Given the description of an element on the screen output the (x, y) to click on. 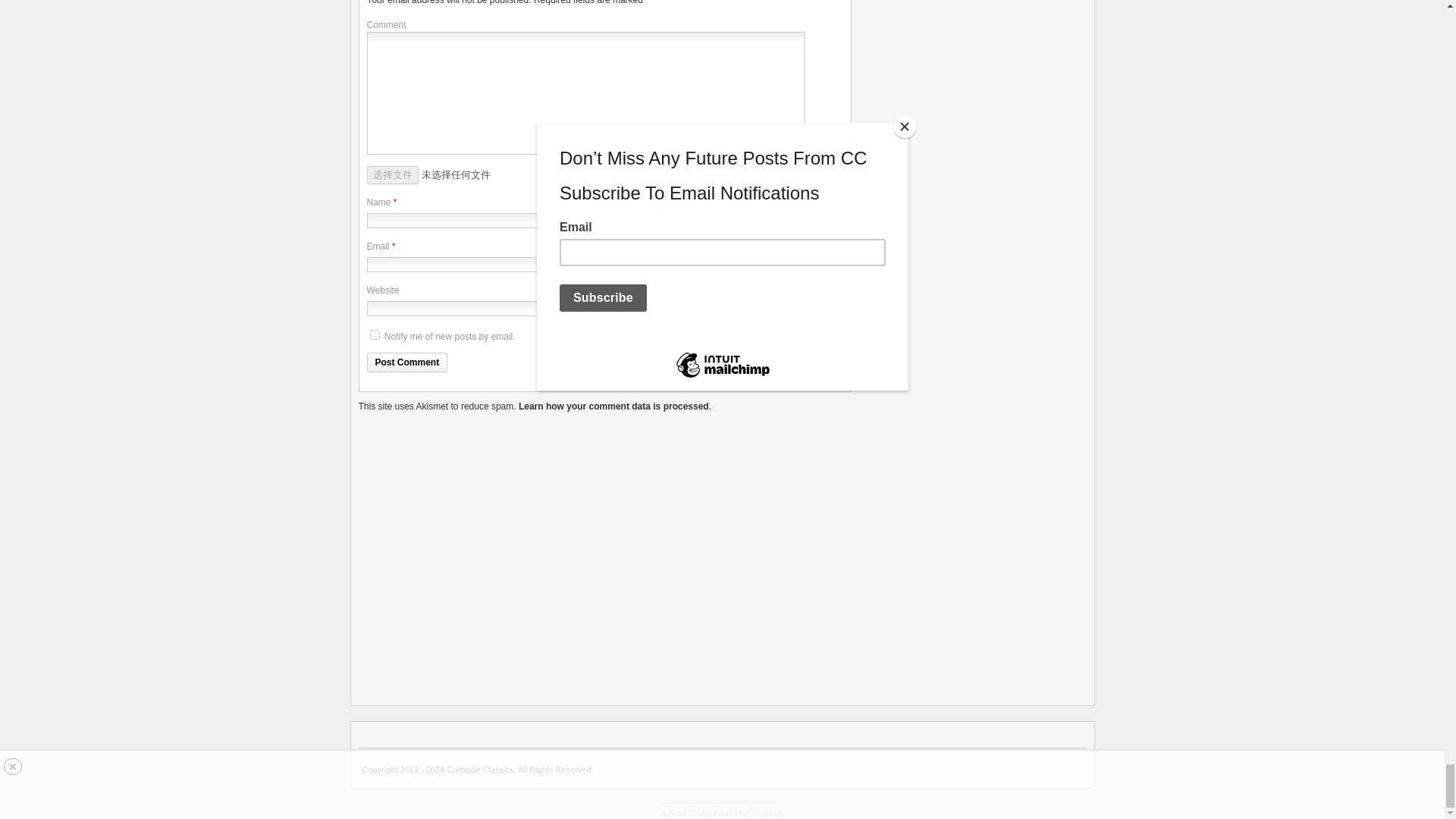
Post Comment (407, 362)
subscribe (374, 334)
